Given the description of an element on the screen output the (x, y) to click on. 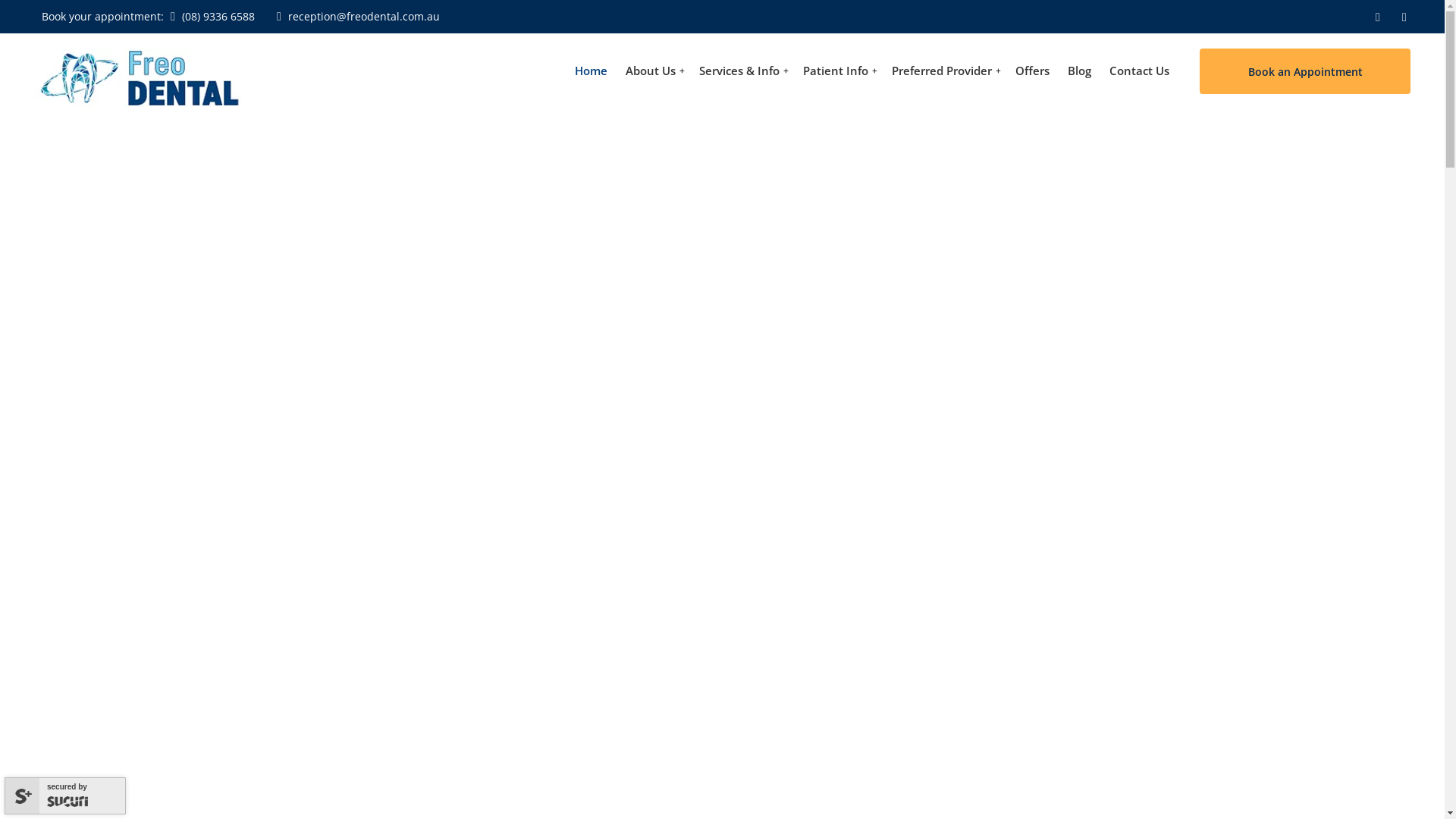
Preferred Provider
+ Element type: text (944, 70)
Patient Info
+ Element type: text (838, 70)
Home Element type: text (591, 70)
Book an Appointment Element type: text (1304, 71)
Book your appointment: (08) 9336 6588 Element type: text (148, 16)
Contact Us Element type: text (1138, 70)
About Us
+ Element type: text (653, 70)
Services & Info
+ Element type: text (741, 70)
Blog Element type: text (1079, 70)
reception@freodental.com.au Element type: text (356, 16)
Offers Element type: text (1032, 70)
